Given the description of an element on the screen output the (x, y) to click on. 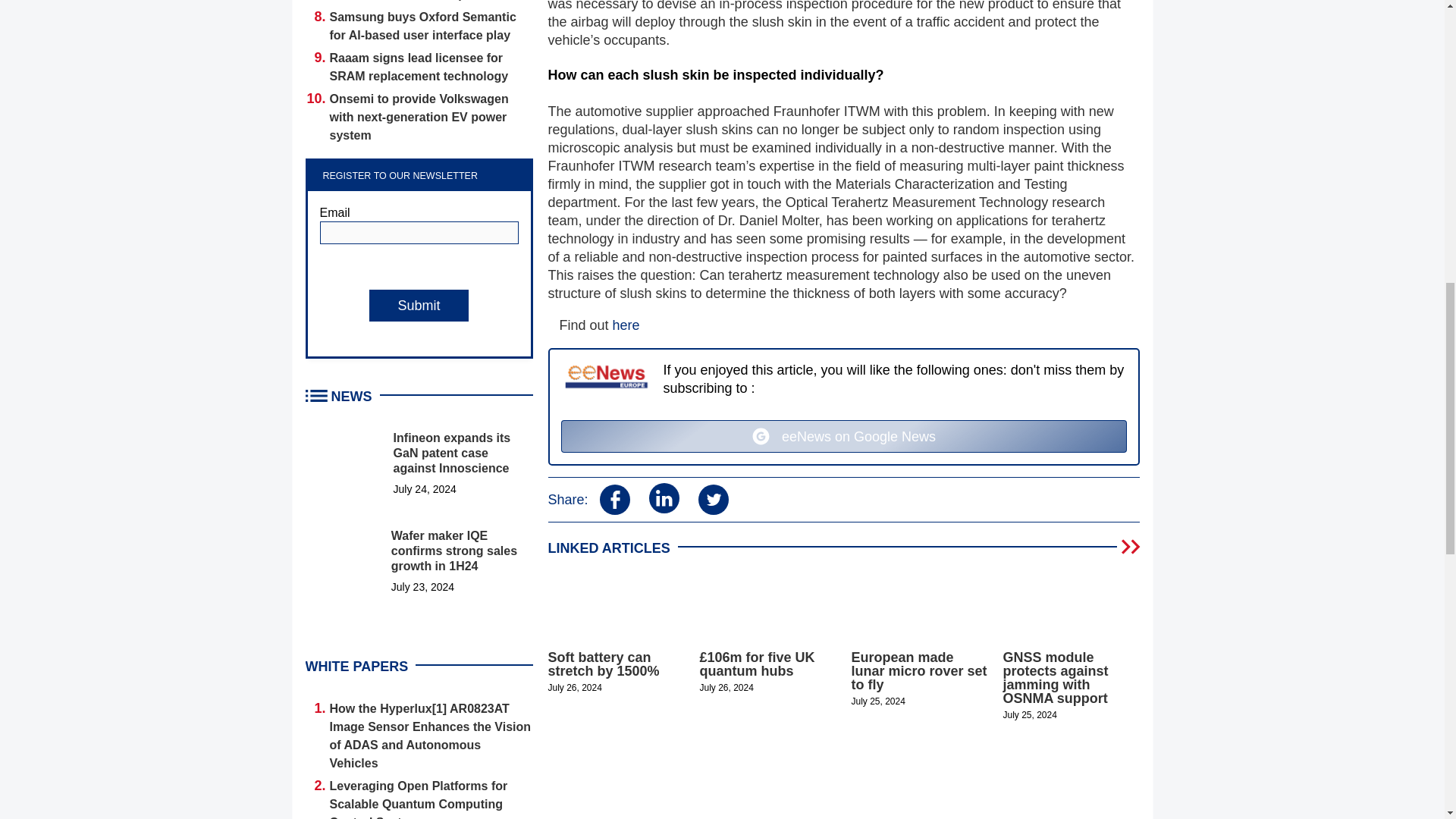
Submit (418, 305)
